Given the description of an element on the screen output the (x, y) to click on. 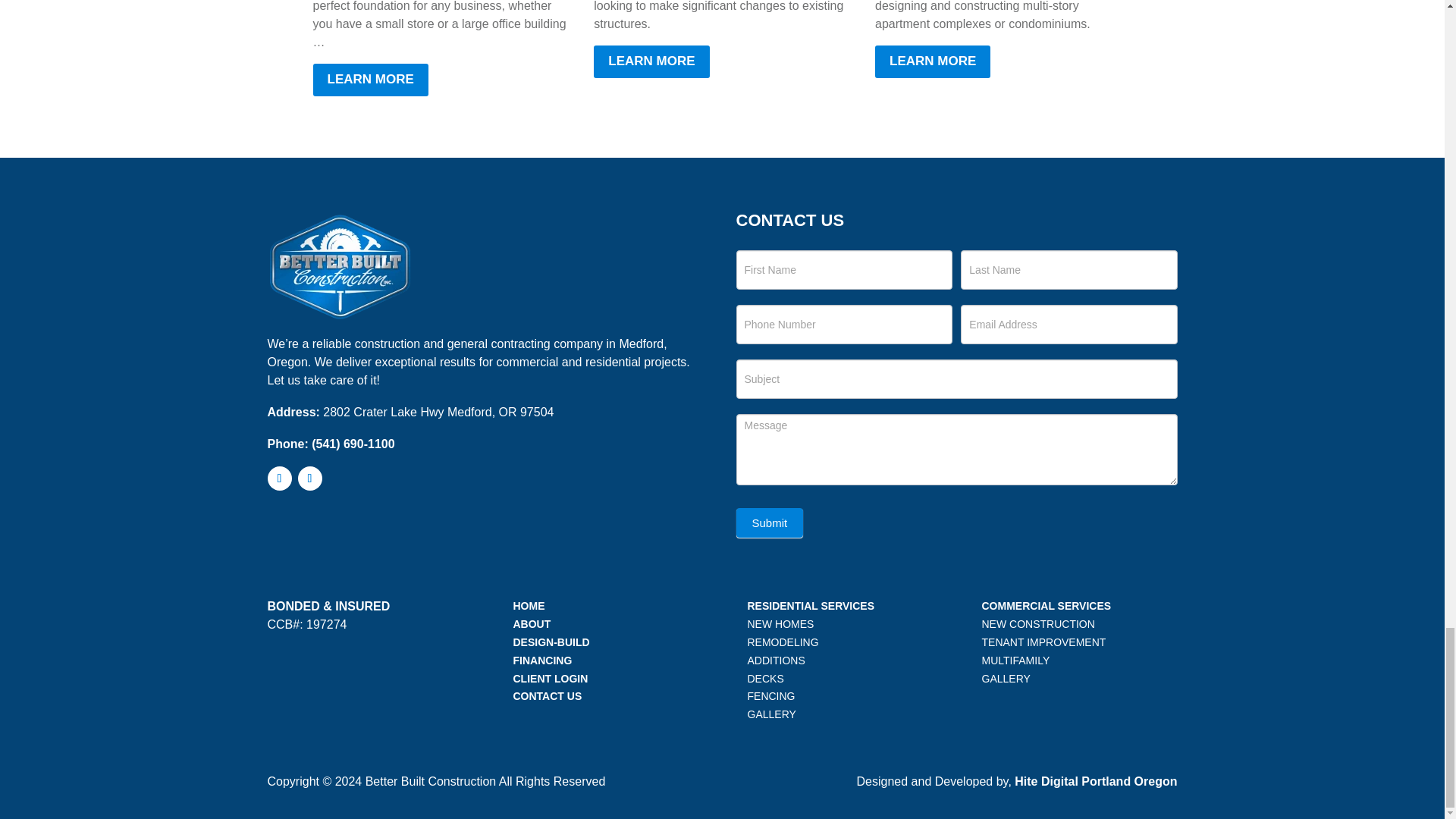
Follow on Facebook (278, 478)
Hite Digital Portland Oregon (1095, 780)
Submit (769, 522)
LEARN MORE (370, 79)
LEARN MORE (932, 61)
Follow on Instagram (309, 478)
LEARN MORE (651, 61)
